Given the description of an element on the screen output the (x, y) to click on. 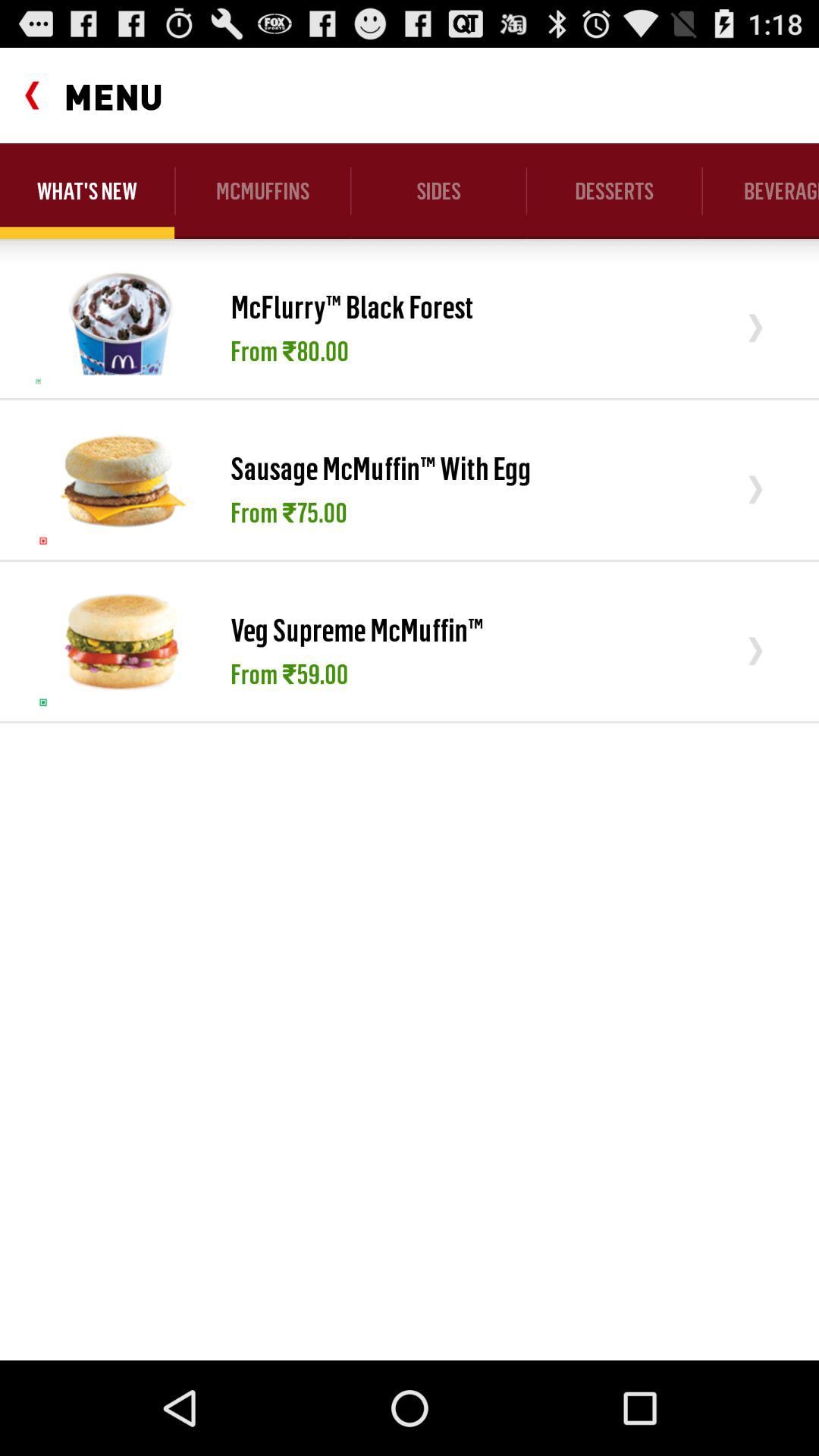
turn on the item below the mcmuffins app (351, 311)
